Given the description of an element on the screen output the (x, y) to click on. 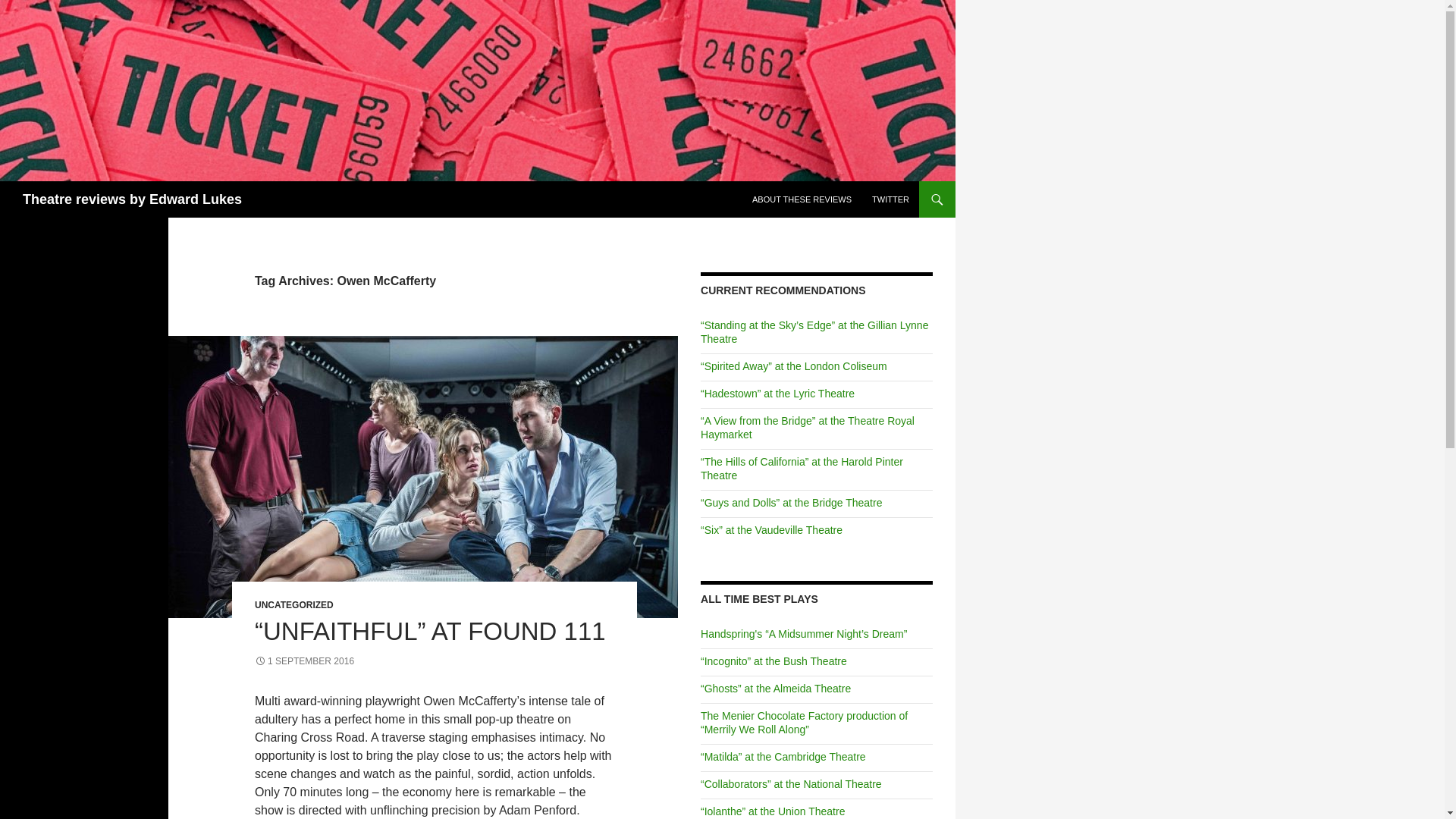
UNCATEGORIZED (293, 604)
Theatre reviews by Edward Lukes (132, 198)
1 SEPTEMBER 2016 (303, 661)
ABOUT THESE REVIEWS (801, 198)
TWITTER (890, 198)
